Given the description of an element on the screen output the (x, y) to click on. 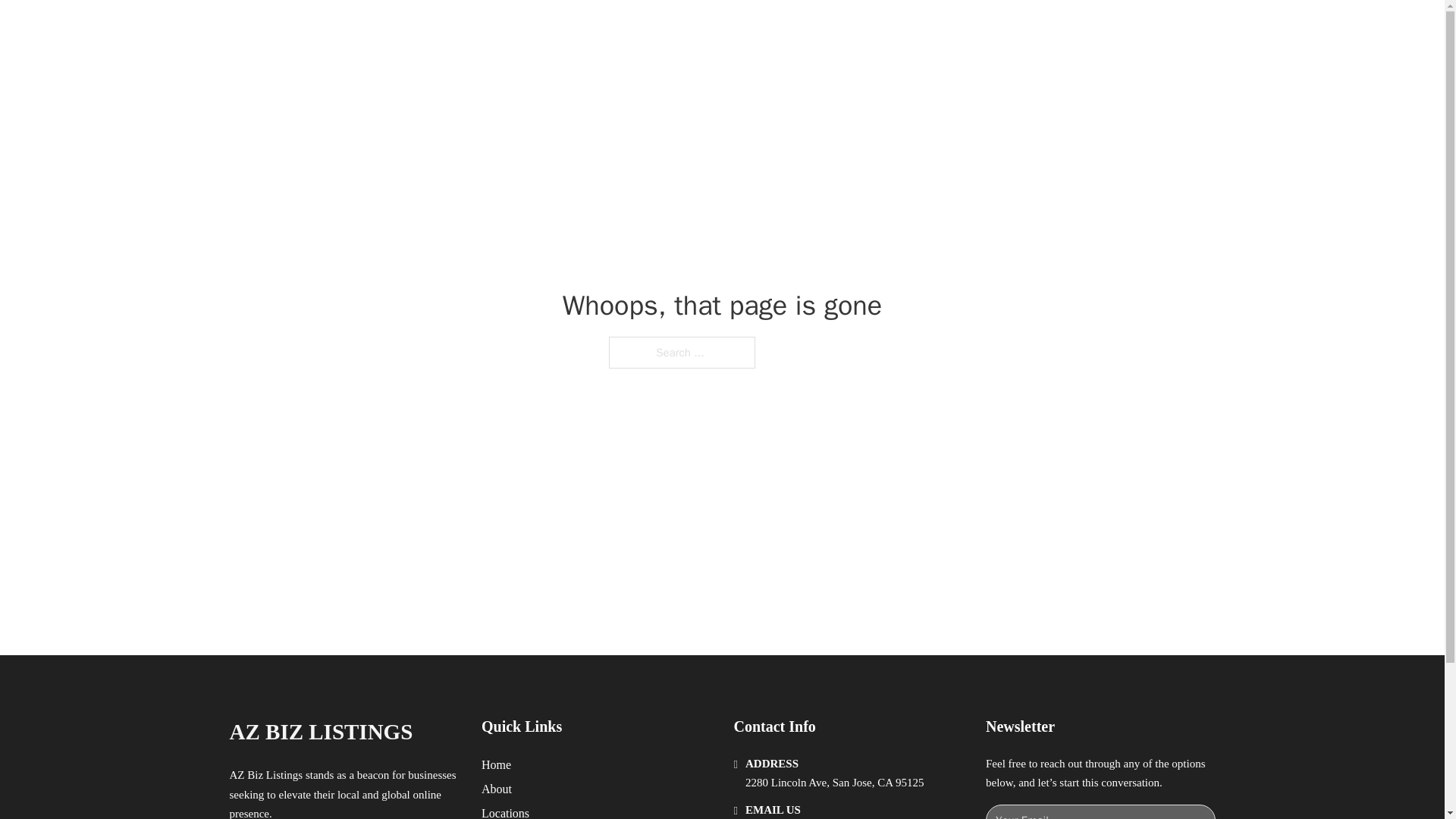
AZ BIZ LISTINGS (320, 732)
AZ BIZ LISTINGS (393, 28)
HOME (919, 29)
LOCATIONS (990, 29)
Home (496, 764)
Locations (505, 811)
About (496, 788)
